Given the description of an element on the screen output the (x, y) to click on. 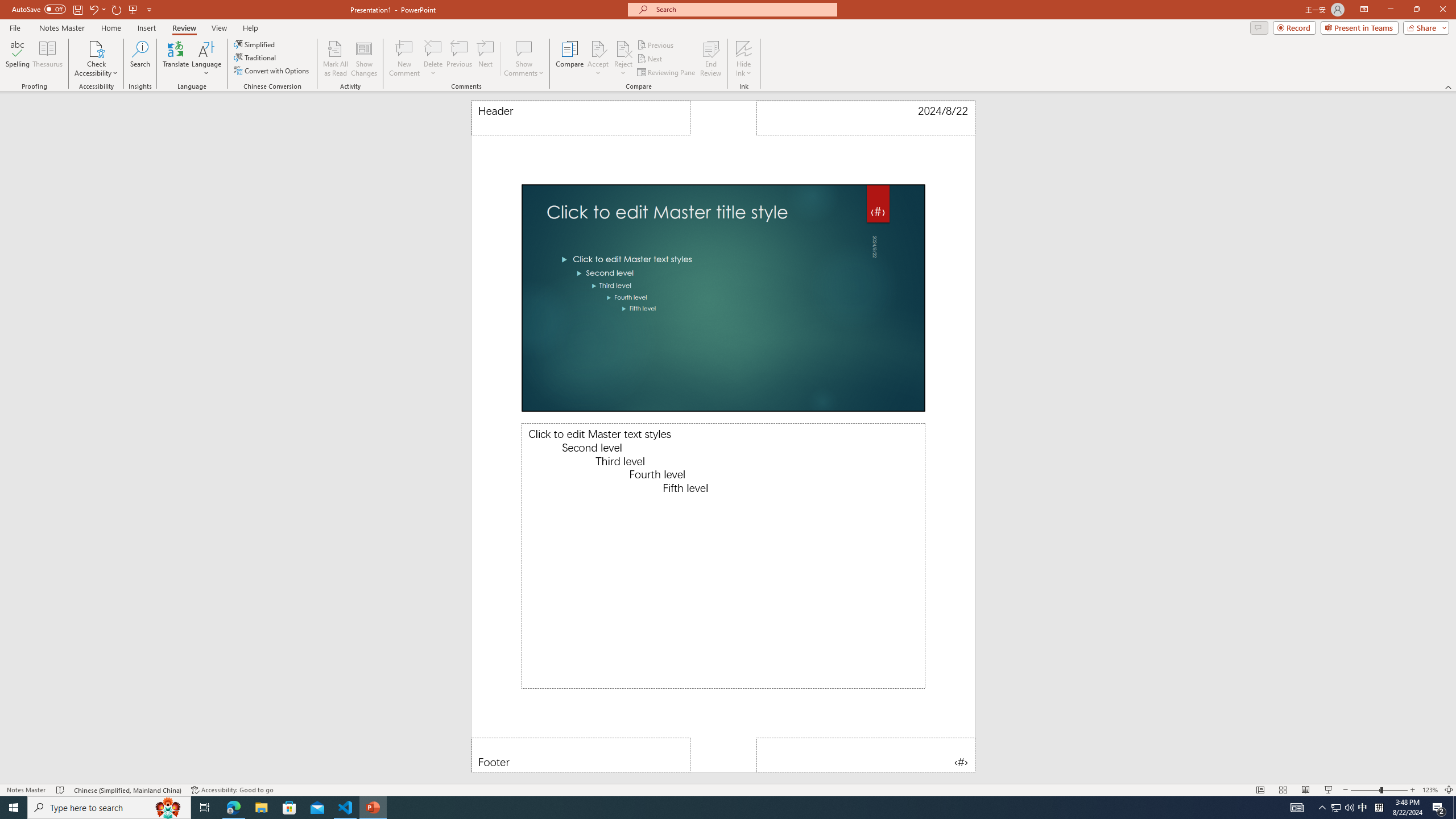
Reviewing Pane (666, 72)
Simplified (254, 44)
Page Number (866, 754)
Header (580, 117)
Convert with Options... (272, 69)
